Given the description of an element on the screen output the (x, y) to click on. 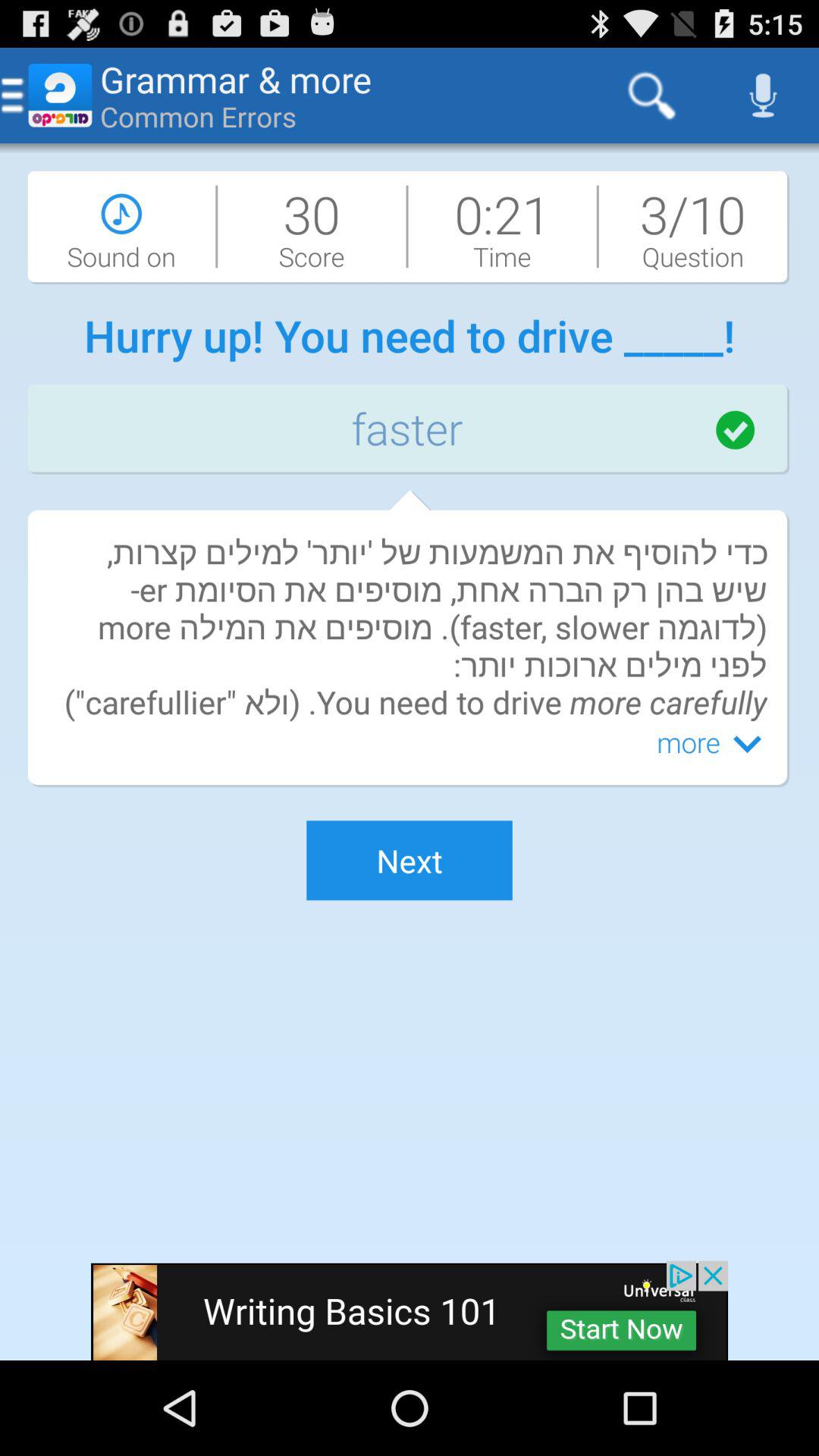
go to advertisement link (409, 1310)
